Given the description of an element on the screen output the (x, y) to click on. 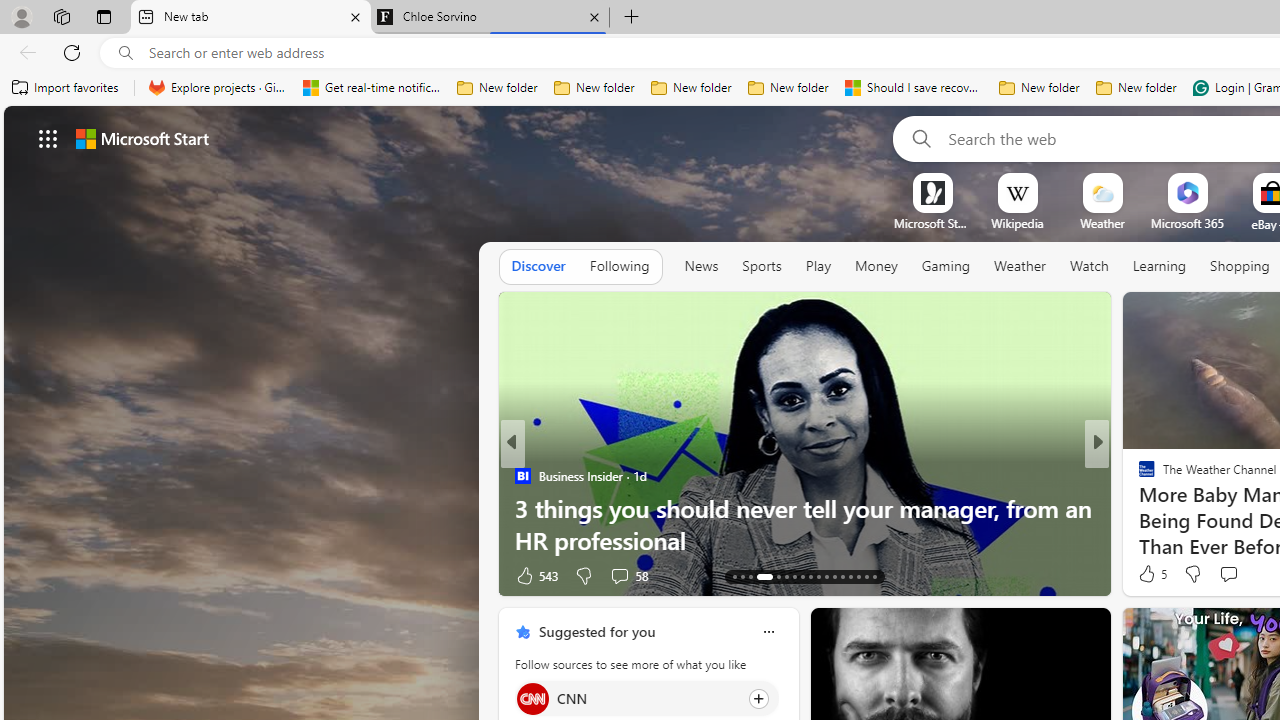
Learning (1159, 265)
News (701, 267)
Should I save recovered Word documents? - Microsoft Support (913, 88)
Click to follow source CNN (646, 698)
Forge of Empires (1175, 507)
6 Like (528, 574)
View comments 5 Comment (1234, 575)
Sports (761, 267)
How to Survive (1138, 507)
Microsoft 365 (1186, 223)
Weather (1020, 265)
Sports (761, 265)
AutomationID: tab-14 (742, 576)
